Given the description of an element on the screen output the (x, y) to click on. 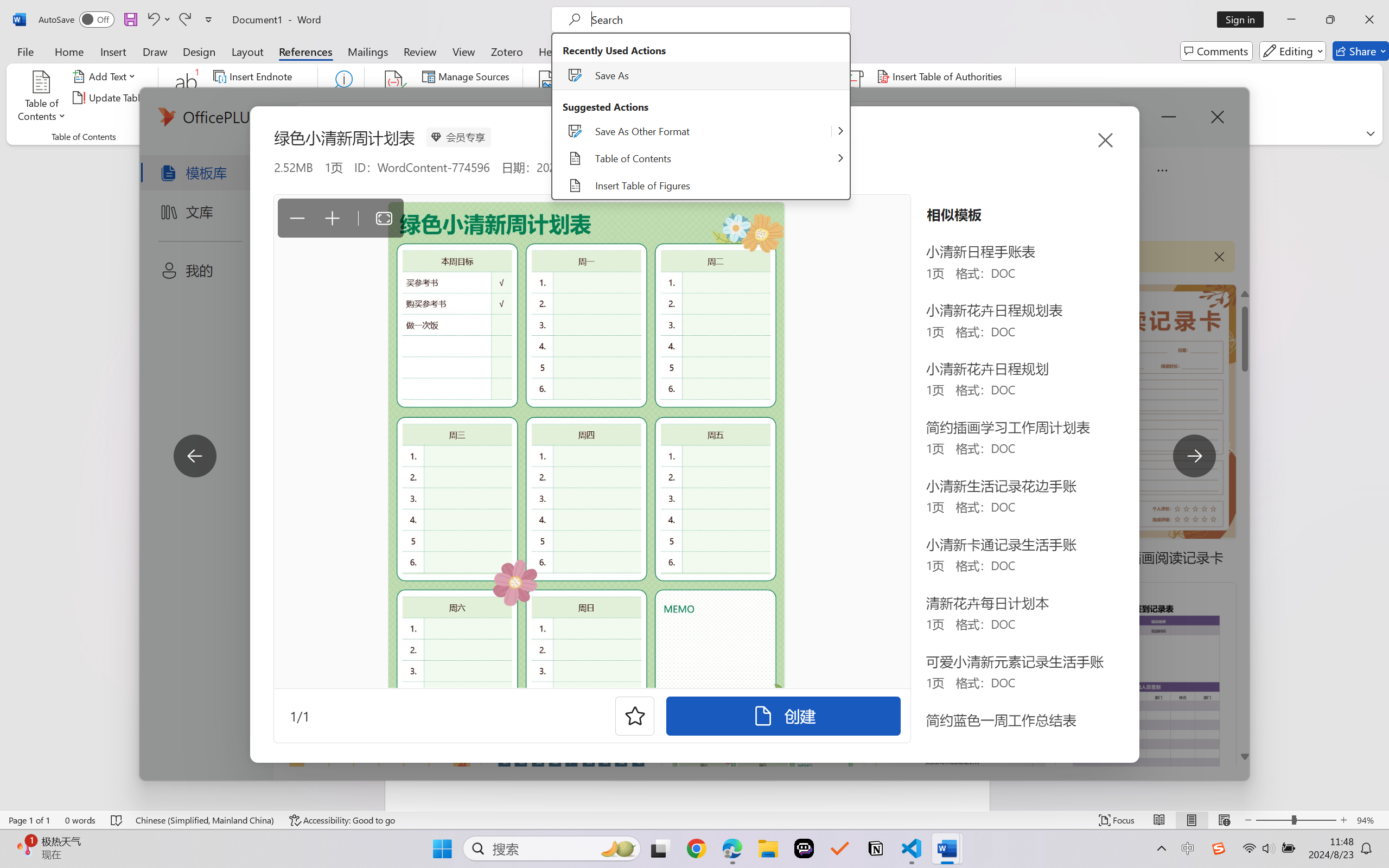
Footnote and Endnote Dialog... (311, 136)
Redo Apply Quick Style (184, 19)
Update Table... (110, 97)
Style (483, 96)
